Given the description of an element on the screen output the (x, y) to click on. 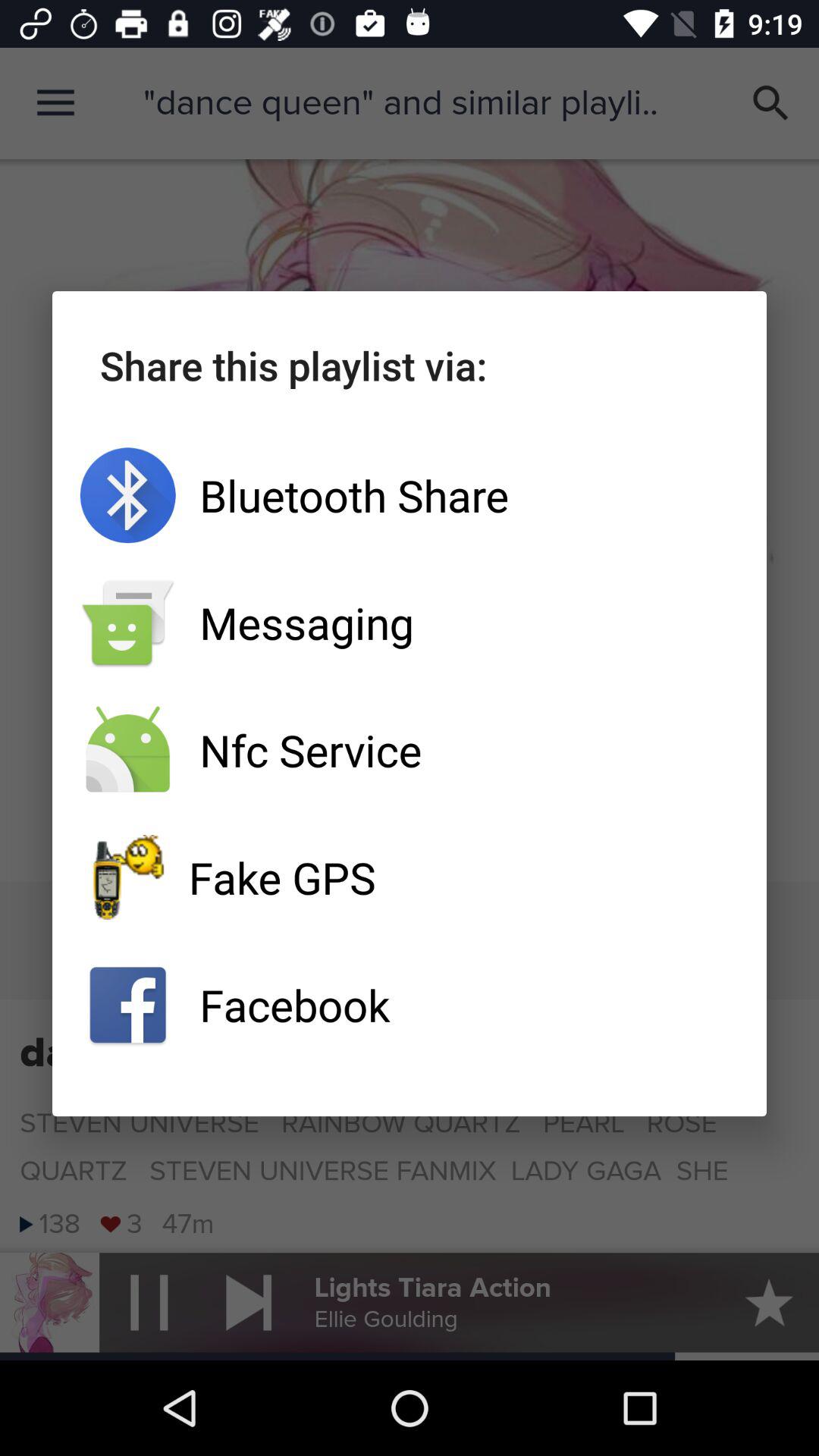
flip until bluetooth share (409, 495)
